Given the description of an element on the screen output the (x, y) to click on. 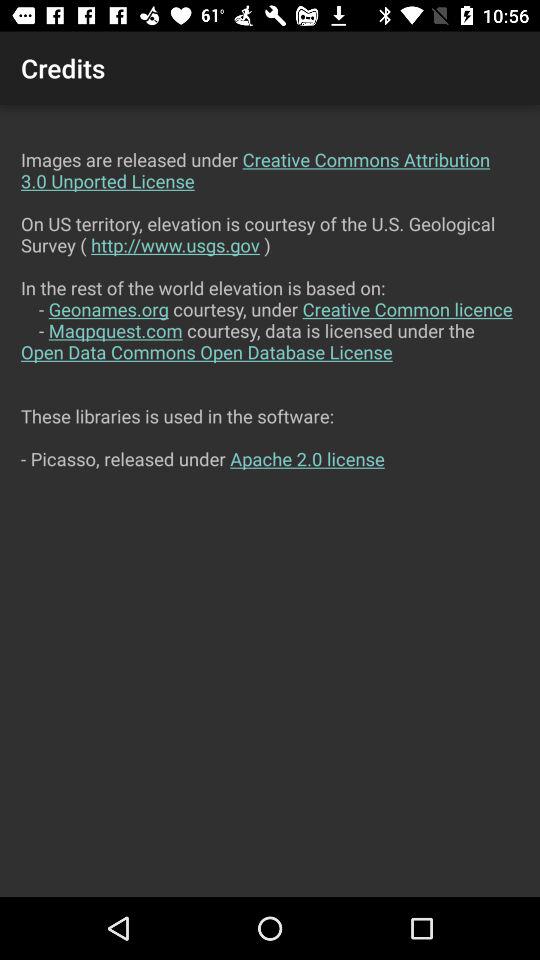
jump to images are released (270, 500)
